Given the description of an element on the screen output the (x, y) to click on. 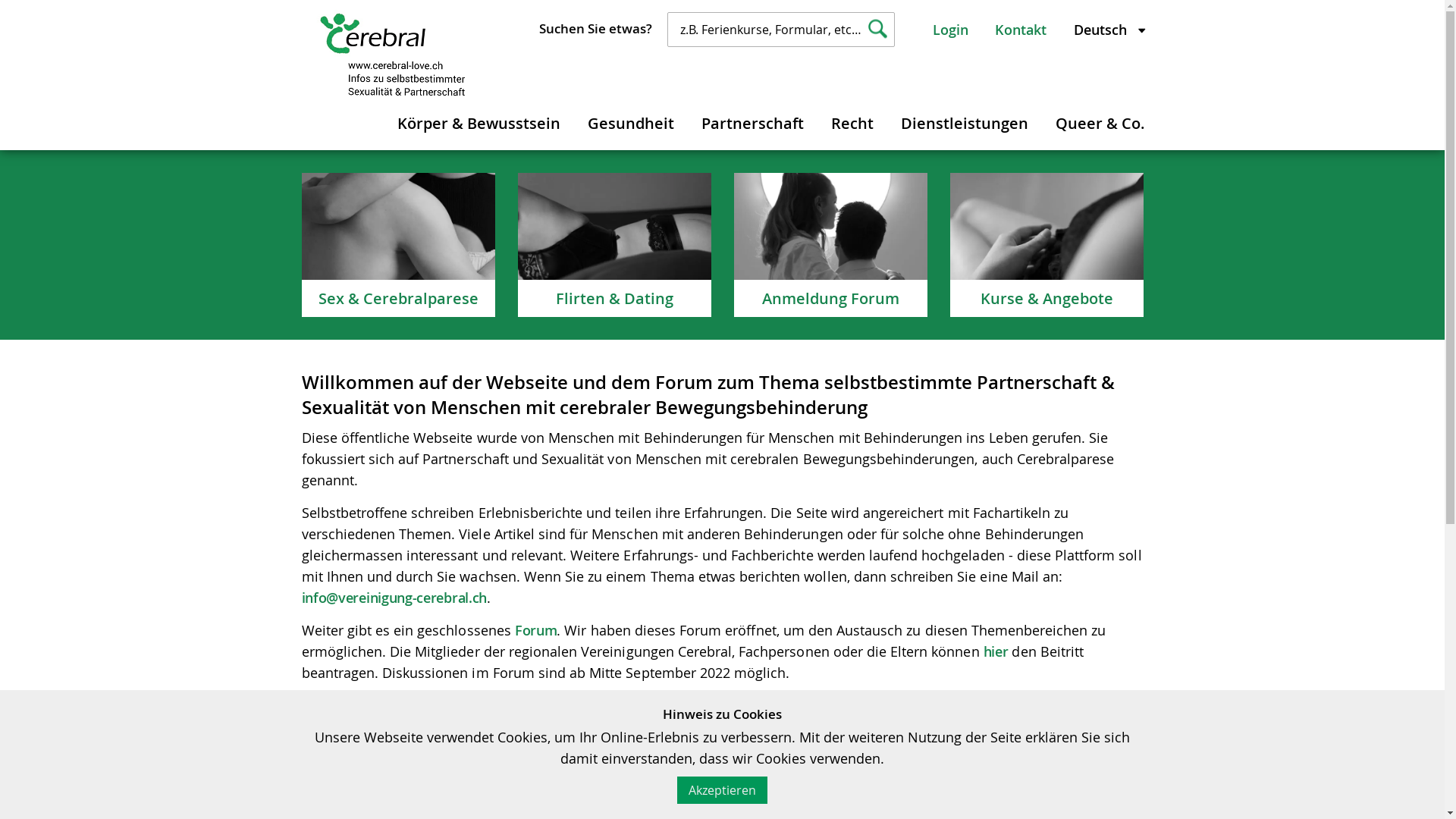
Flirten & Dating Element type: text (613, 244)
Dienstleistungen Element type: text (963, 120)
Akzeptieren Element type: text (722, 789)
Gesundheit Element type: text (630, 120)
Sex & Cerebralparese Element type: text (398, 244)
Queer & Co. Element type: text (1099, 120)
Recht Element type: text (851, 120)
Forum Element type: text (535, 630)
Kontakt Element type: text (1020, 29)
Login Element type: text (950, 29)
info@vereinigung-cerebral.ch Element type: text (394, 597)
hier Element type: text (995, 651)
Partnerschaft Element type: text (752, 120)
Strategie 2019-2023 der Vereinigung Cerebral Schweiz Element type: text (572, 737)
Anmeldung Forum Element type: text (830, 244)
info@vereinigung-cerebral.ch Element type: text (692, 780)
Kurse & Angebote Element type: text (1045, 244)
